Given the description of an element on the screen output the (x, y) to click on. 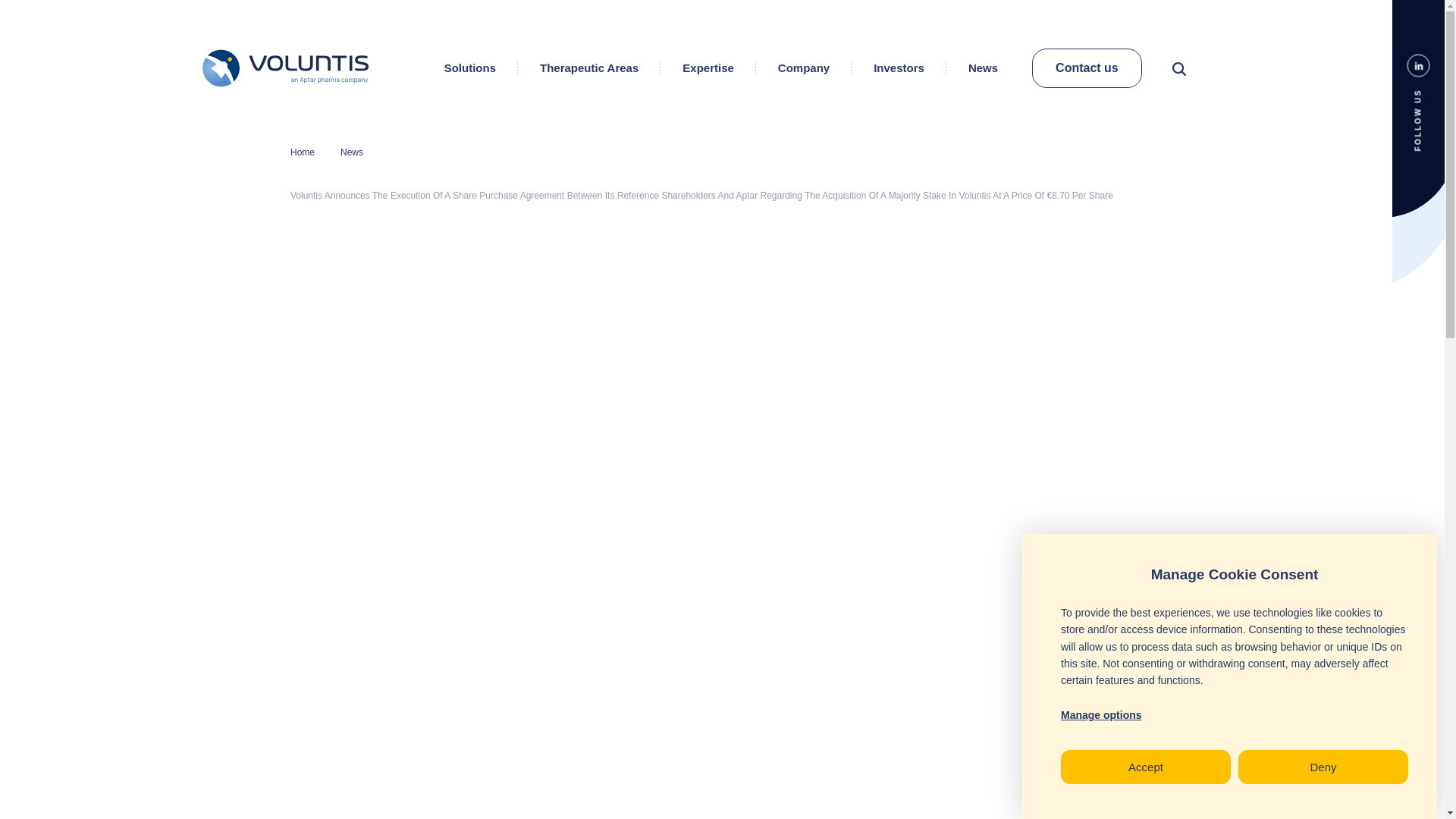
Voluntis - home page (296, 67)
Investors (898, 67)
Expertise (707, 67)
Company (803, 67)
Solutions (470, 67)
Therapeutic Areas (589, 67)
